Given the description of an element on the screen output the (x, y) to click on. 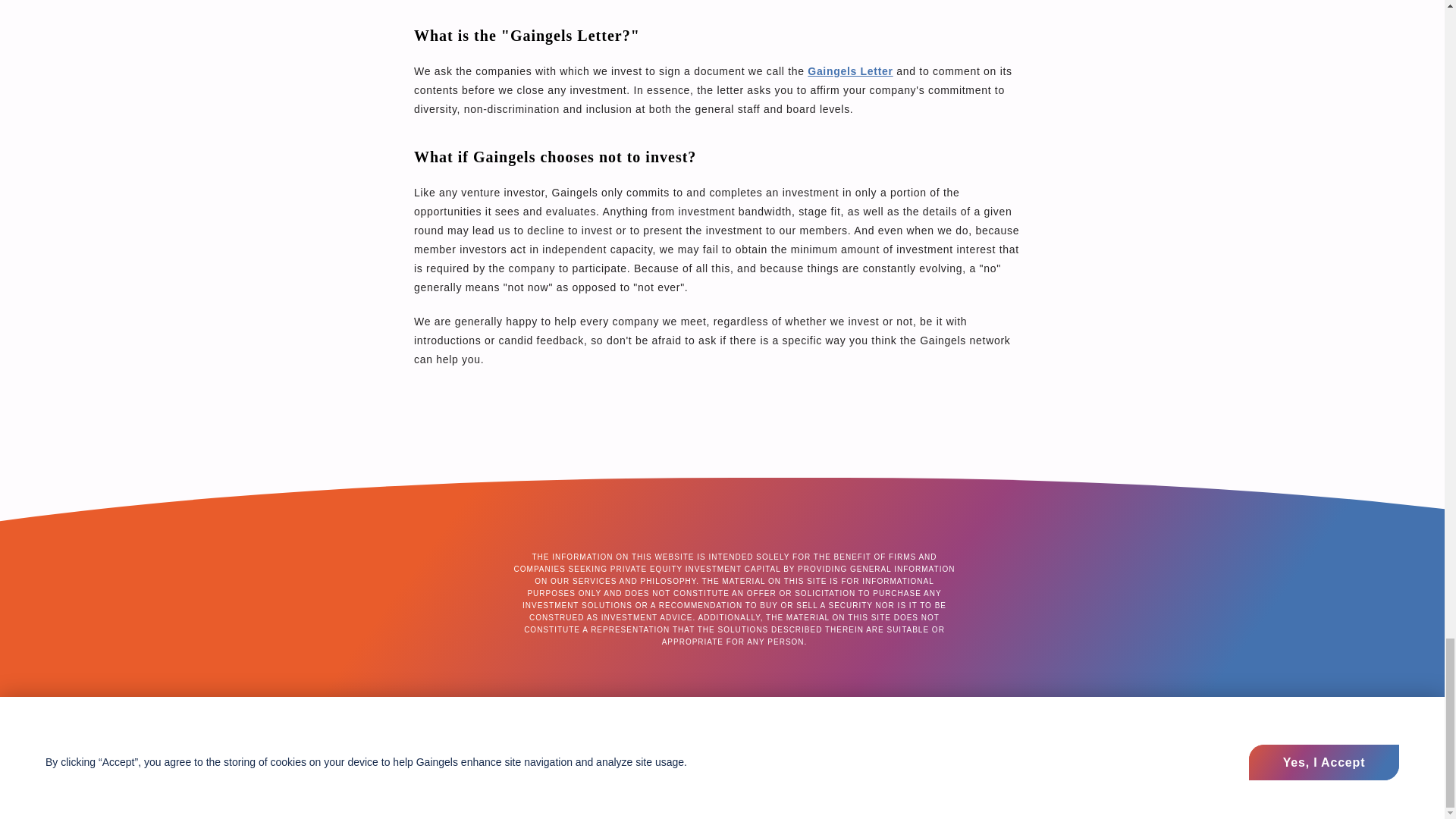
Privacy (888, 711)
Gaingels Letter (850, 70)
Home (575, 711)
